Given the description of an element on the screen output the (x, y) to click on. 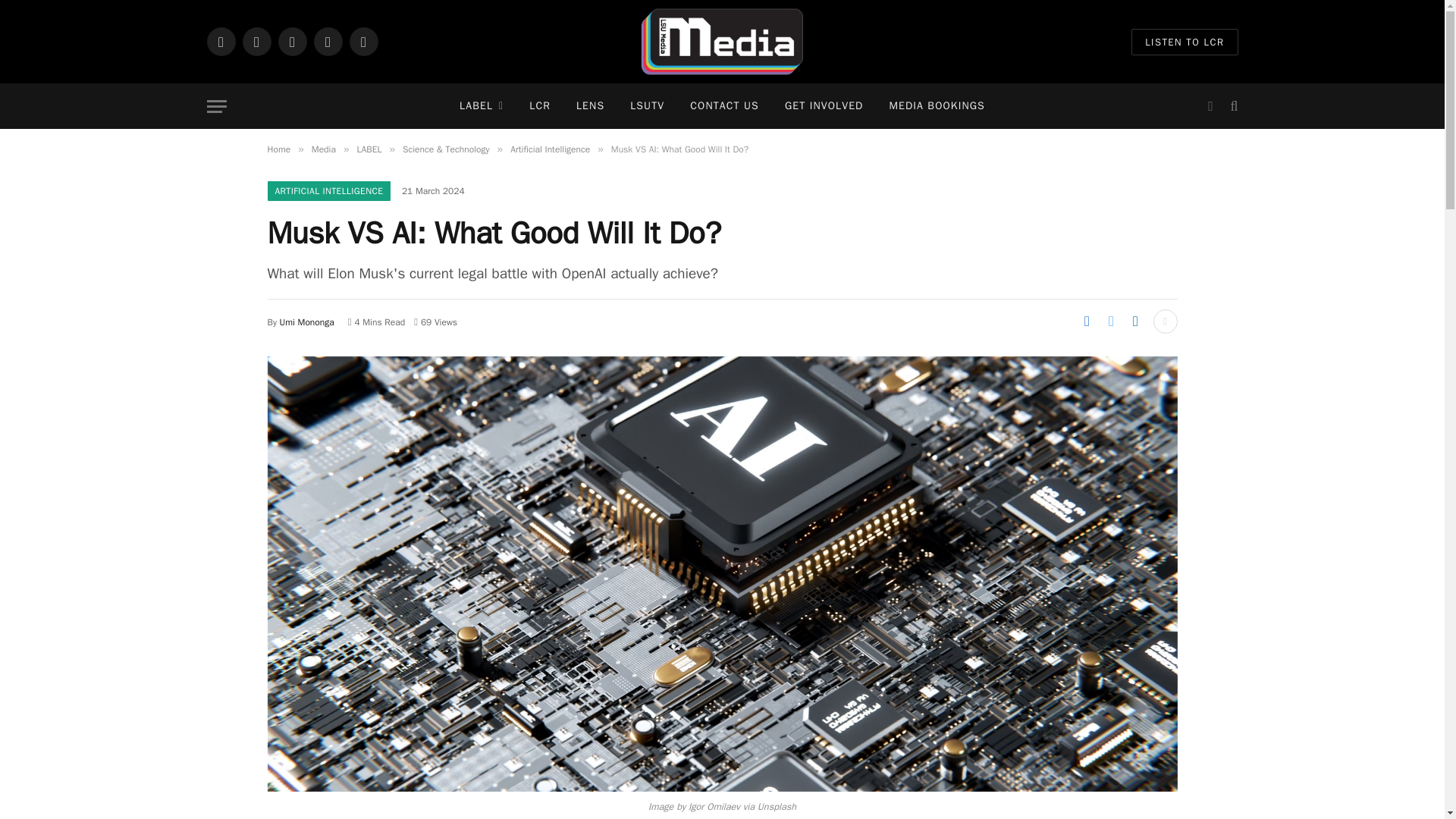
LABEL (481, 105)
Posts by Umi Mononga (306, 322)
LISTEN TO LCR (1184, 41)
LSU Media (722, 41)
Facebook (220, 41)
Switch to Dark Design - easier on eyes. (1209, 106)
TikTok (328, 41)
YouTube (363, 41)
Instagram (256, 41)
